Given the description of an element on the screen output the (x, y) to click on. 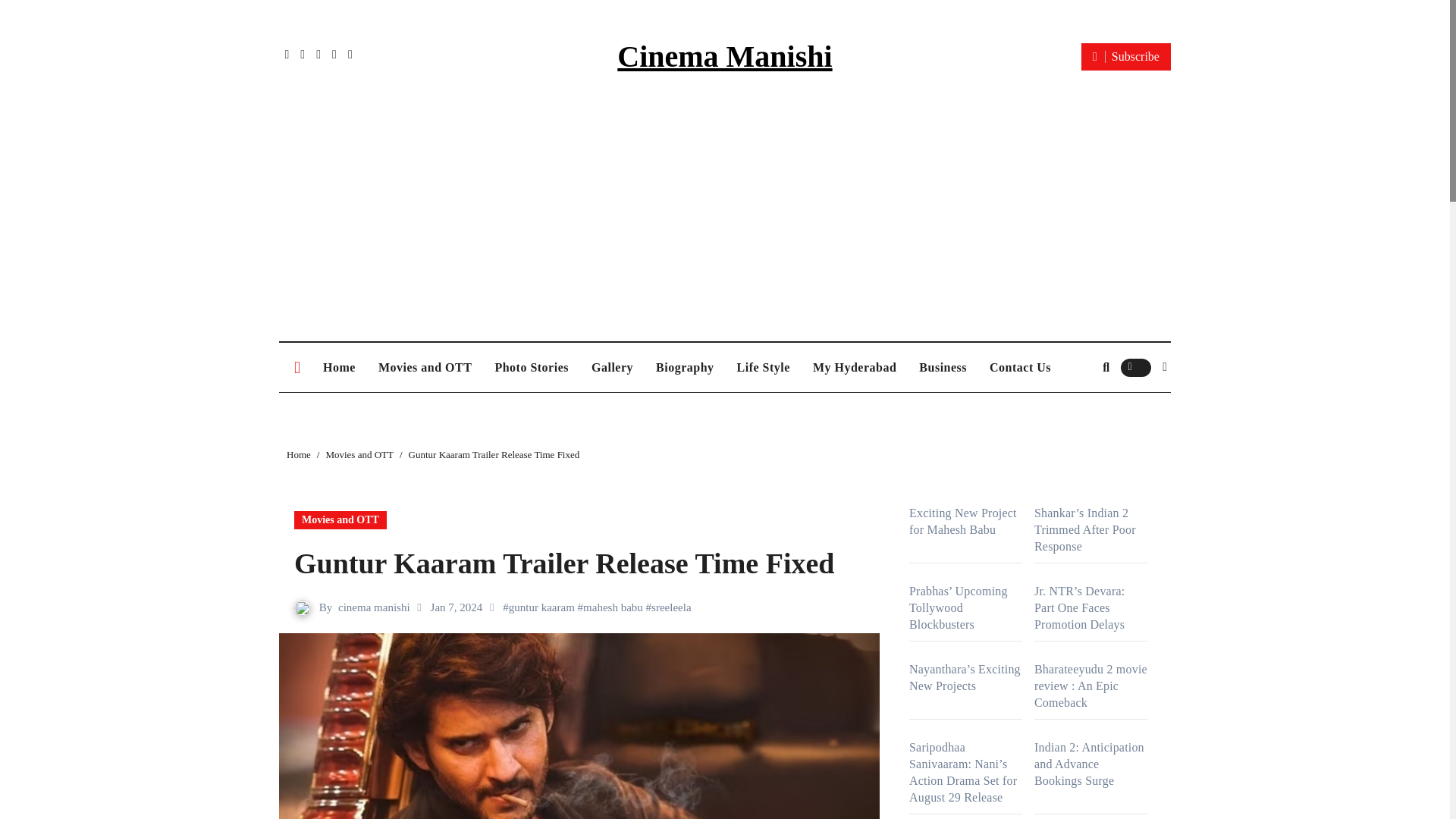
Business (942, 367)
Movies and OTT (340, 520)
Life Style (763, 367)
Home (338, 367)
My Hyderabad (854, 367)
mahesh babu (613, 607)
Photo Stories (531, 367)
Photo Stories (531, 367)
Movies and OTT (424, 367)
Biography (685, 367)
Home (298, 454)
Business (942, 367)
Movies and OTT (424, 367)
cinema manishi (373, 607)
